Given the description of an element on the screen output the (x, y) to click on. 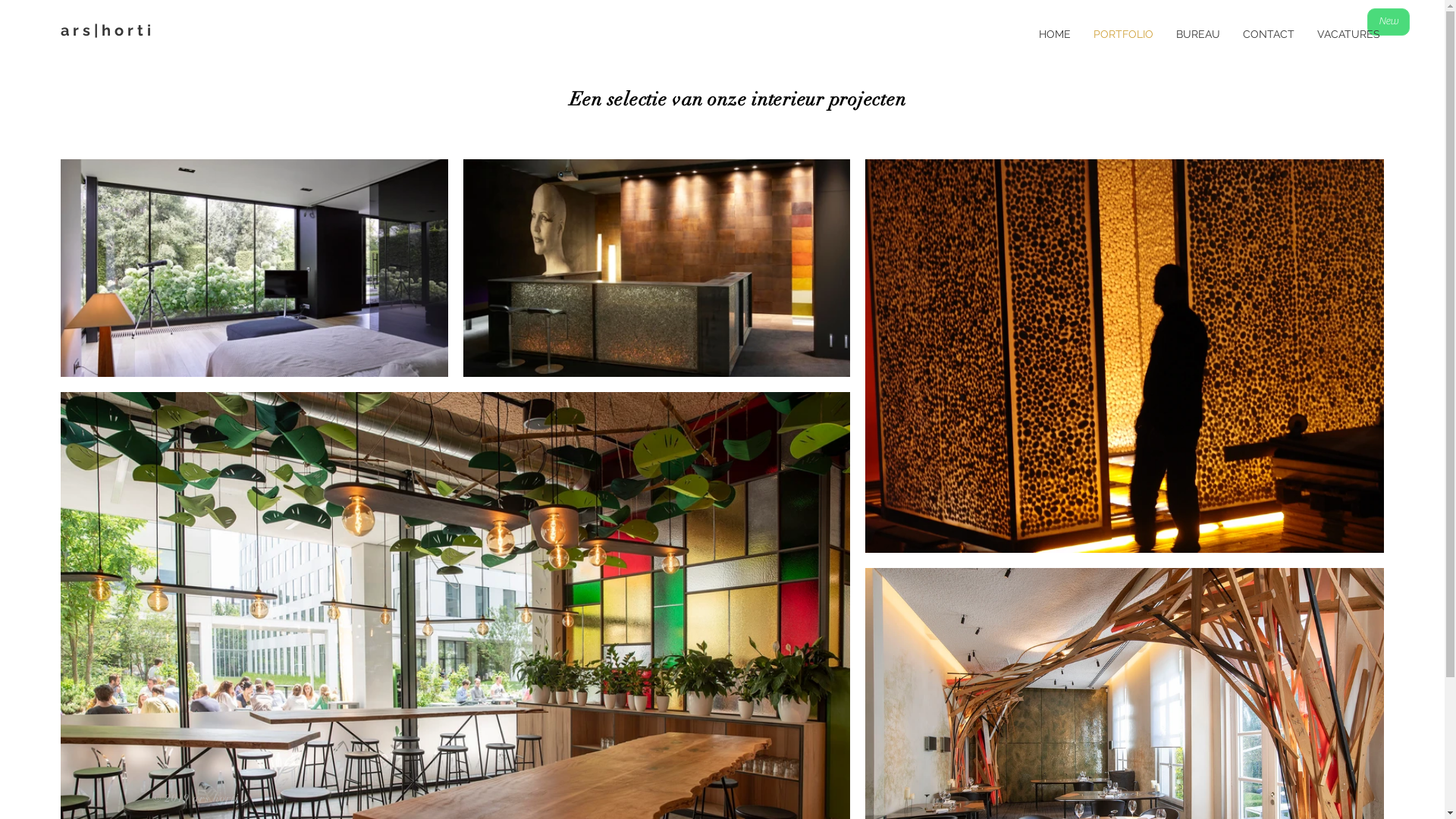
HOME Element type: text (1054, 34)
CONTACT Element type: text (1268, 34)
a r s | h o r t i Element type: text (105, 30)
VACATURES Element type: text (1348, 34)
PORTFOLIO Element type: text (1123, 34)
BUREAU Element type: text (1197, 34)
